Given the description of an element on the screen output the (x, y) to click on. 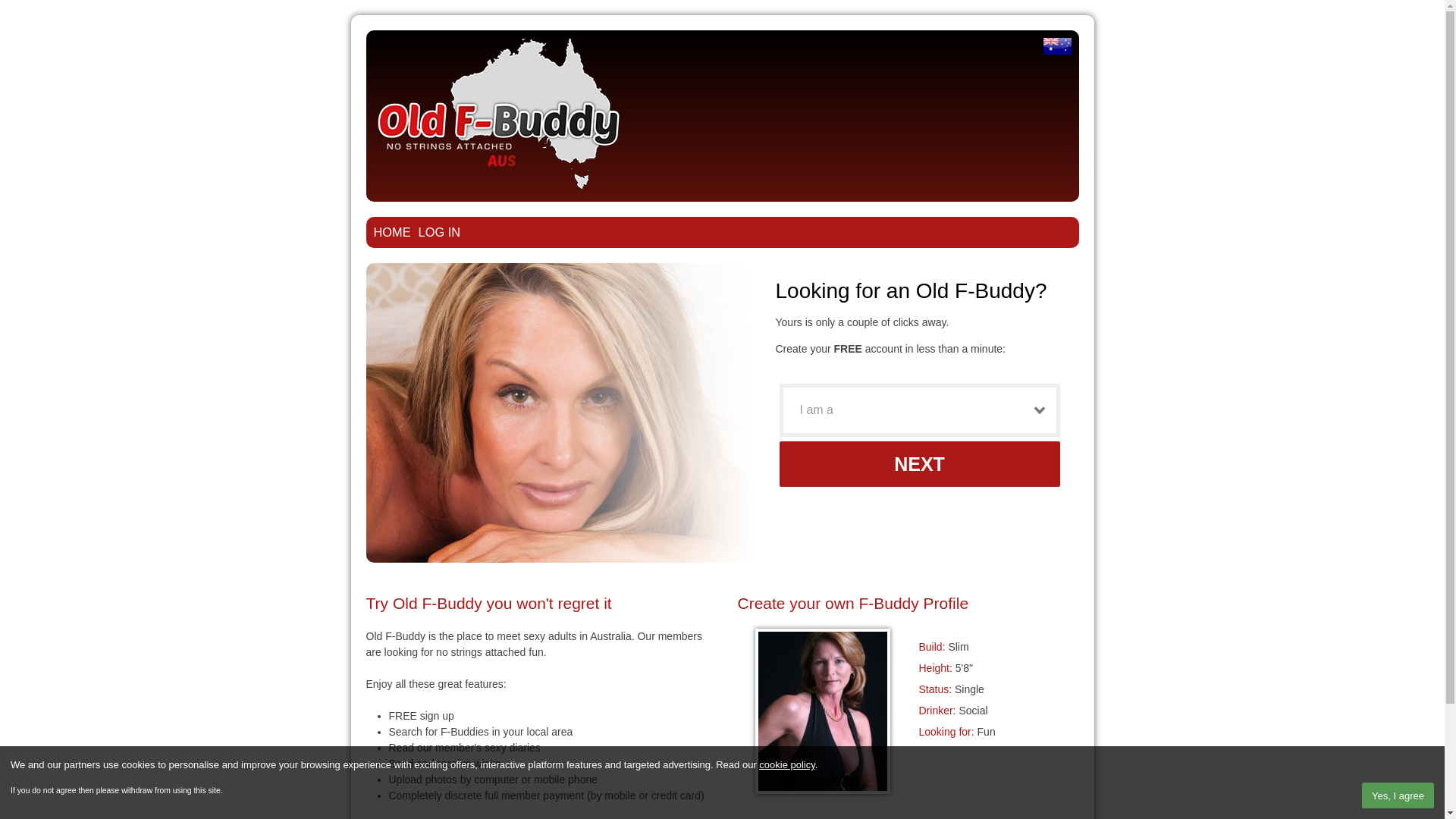
HOME Element type: text (391, 231)
Old F-Buddy Australia Element type: text (1057, 45)
cookie policy Element type: text (786, 764)
LOG IN Element type: text (439, 231)
Jump to navigation Element type: text (722, 17)
Yes, I agree Element type: text (1397, 795)
NEXT Element type: text (919, 463)
